Given the description of an element on the screen output the (x, y) to click on. 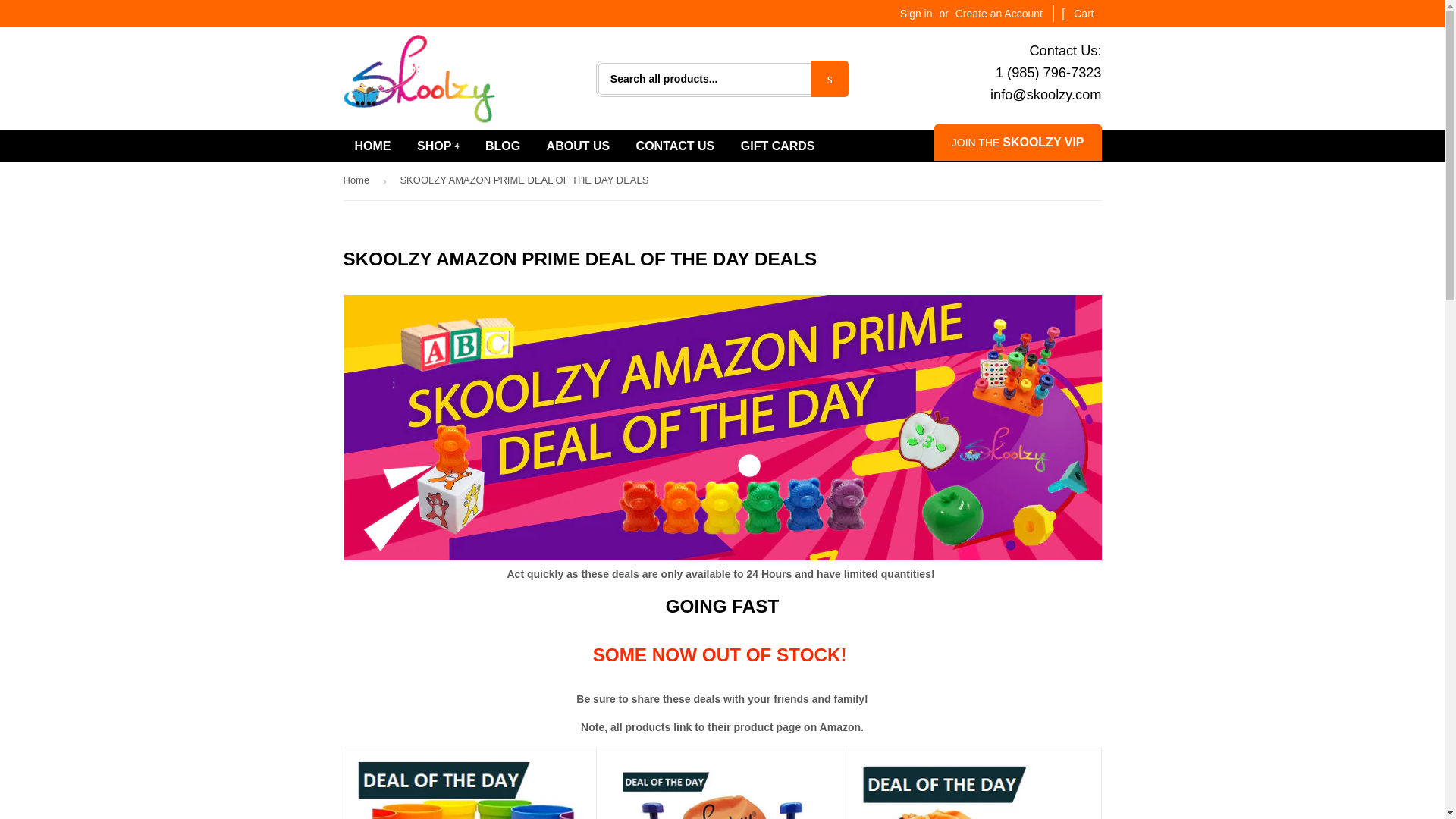
GIFT CARDS (778, 146)
ABOUT US (578, 146)
Search (829, 78)
CONTACT US (675, 146)
Back to the frontpage (358, 180)
Sign in (916, 13)
HOME (371, 146)
JOIN THE SKOOLZY VIP (1018, 142)
Create an Account (998, 13)
SHOP (438, 146)
BLOG (502, 146)
Cart (1077, 14)
Home (358, 180)
